Given the description of an element on the screen output the (x, y) to click on. 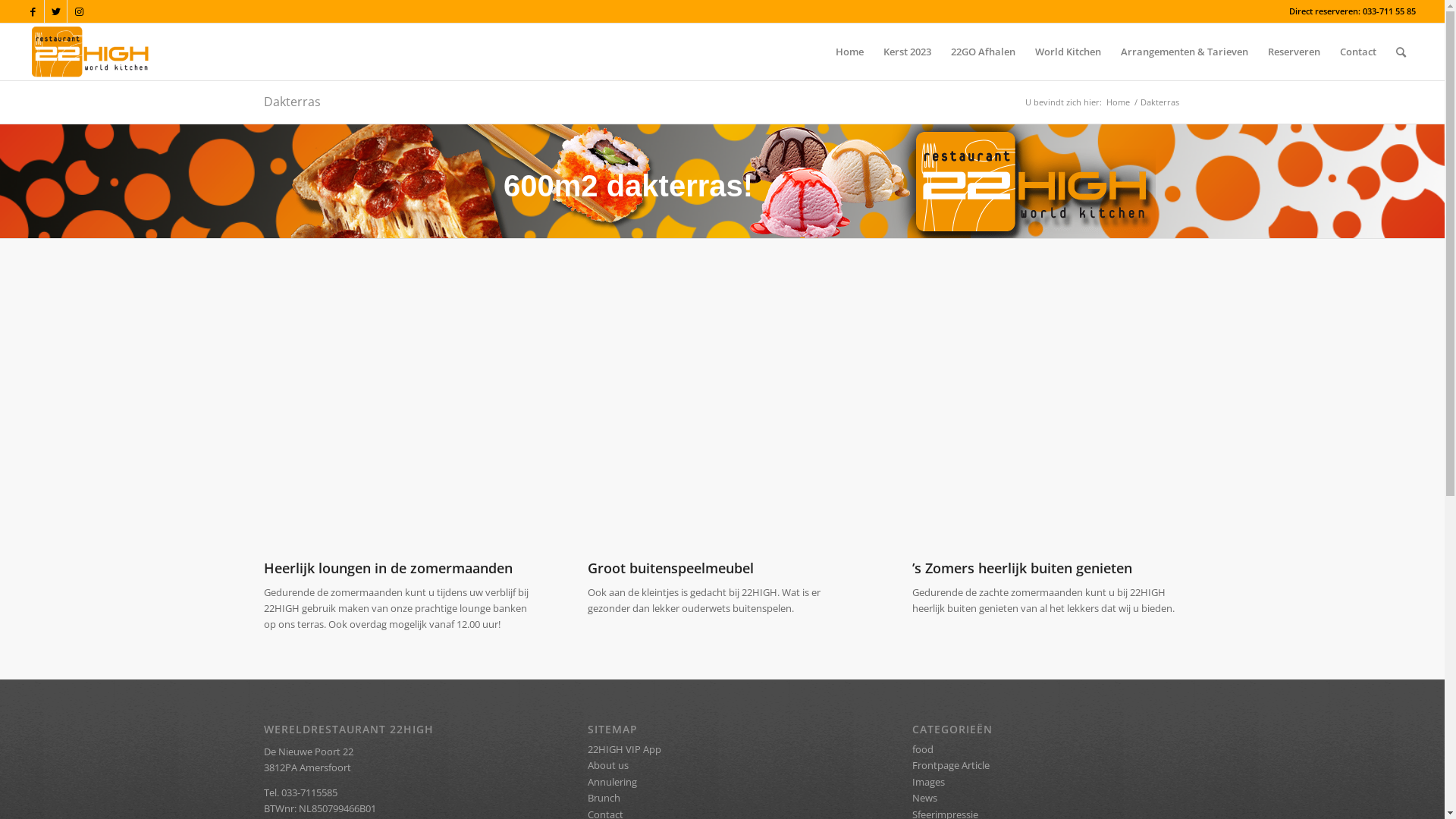
Arrangementen & Tarieven Element type: text (1184, 51)
food Element type: text (922, 749)
Reserveren Element type: text (1294, 51)
Instagram Element type: hover (78, 11)
Home Element type: text (1118, 101)
World Kitchen Element type: text (1067, 51)
Brunch Element type: text (603, 797)
Facebook Element type: hover (32, 11)
About us Element type: text (607, 764)
Contact Element type: text (1358, 51)
Home Element type: text (849, 51)
033-711 55 85 Element type: text (1388, 10)
Twitter Element type: hover (55, 11)
22GO Afhalen Element type: text (983, 51)
22HIGH VIP App Element type: text (624, 749)
Kerst 2023 Element type: text (907, 51)
Dakterras Element type: text (291, 101)
Frontpage Article Element type: text (950, 764)
News Element type: text (924, 797)
Images Element type: text (928, 781)
Annulering Element type: text (612, 781)
